Given the description of an element on the screen output the (x, y) to click on. 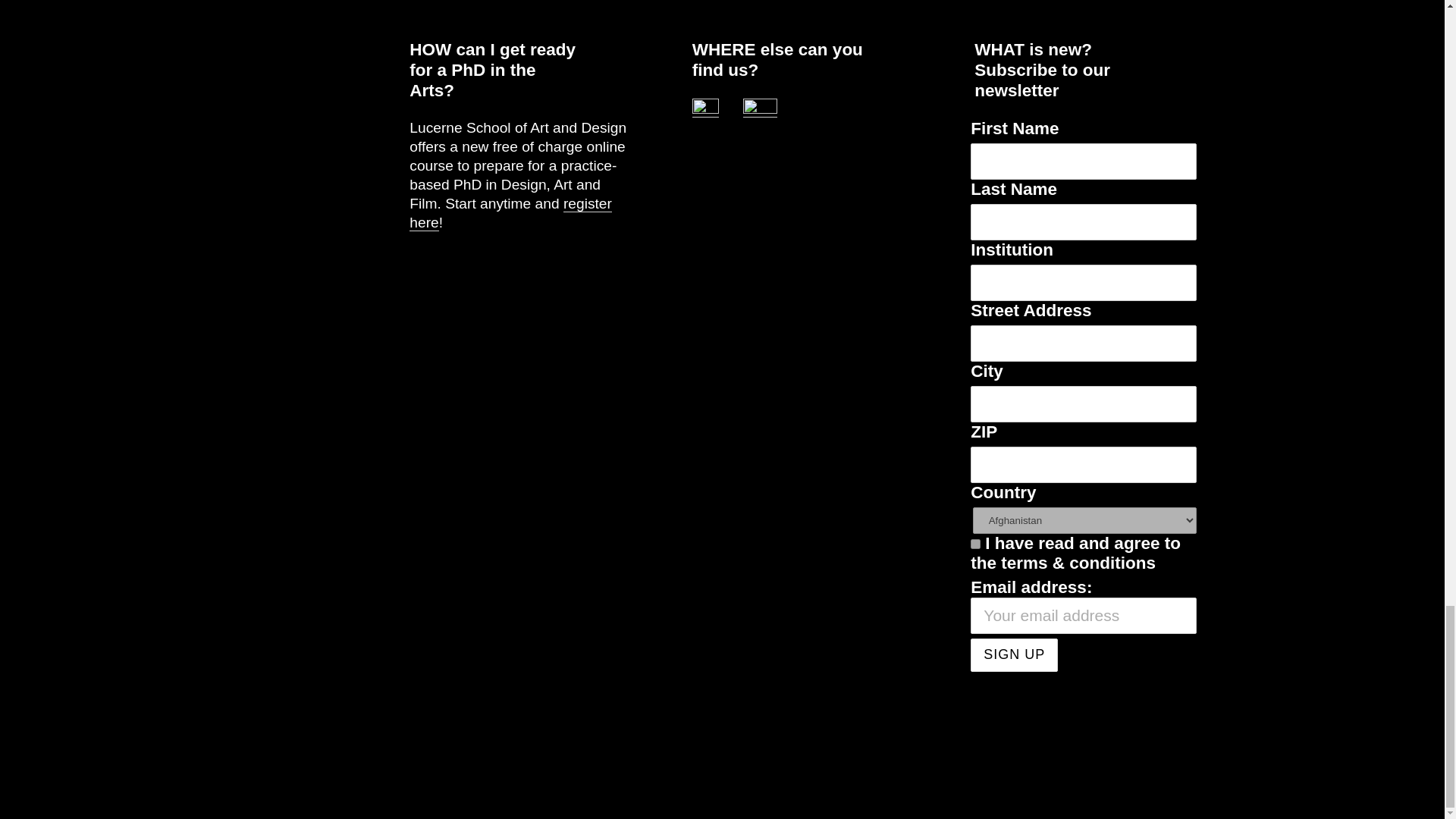
1 (975, 543)
Sign up (1014, 654)
register here (510, 212)
Sign up (1014, 654)
